Given the description of an element on the screen output the (x, y) to click on. 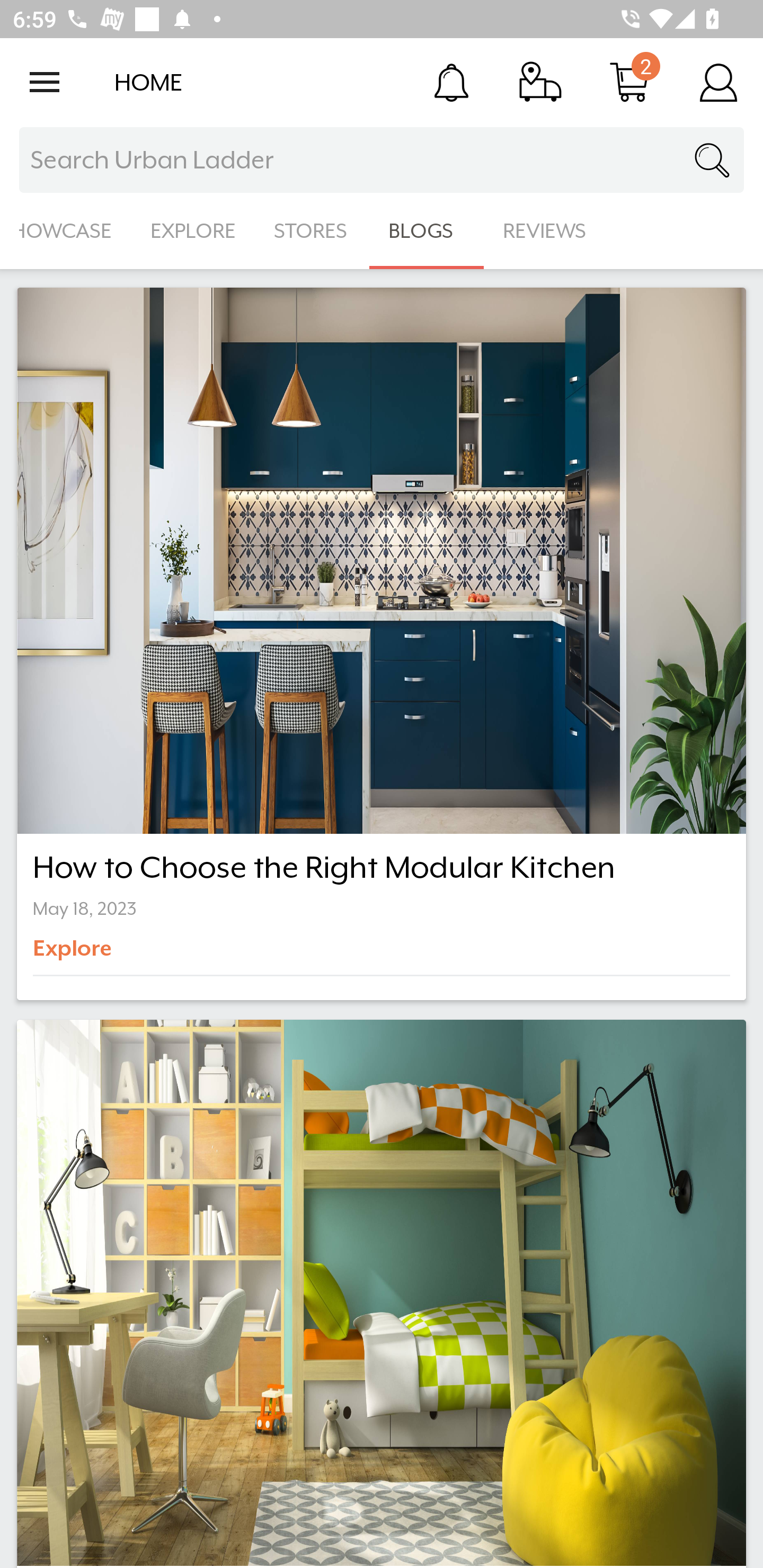
Open navigation drawer (44, 82)
Notification (450, 81)
Track Order (540, 81)
Cart (629, 81)
Account Details (718, 81)
Search Urban Ladder  (381, 159)
SHOWCASE (65, 230)
EXPLORE (192, 230)
STORES (311, 230)
BLOGS (426, 230)
REVIEWS (544, 230)
Explore (102, 954)
